Given the description of an element on the screen output the (x, y) to click on. 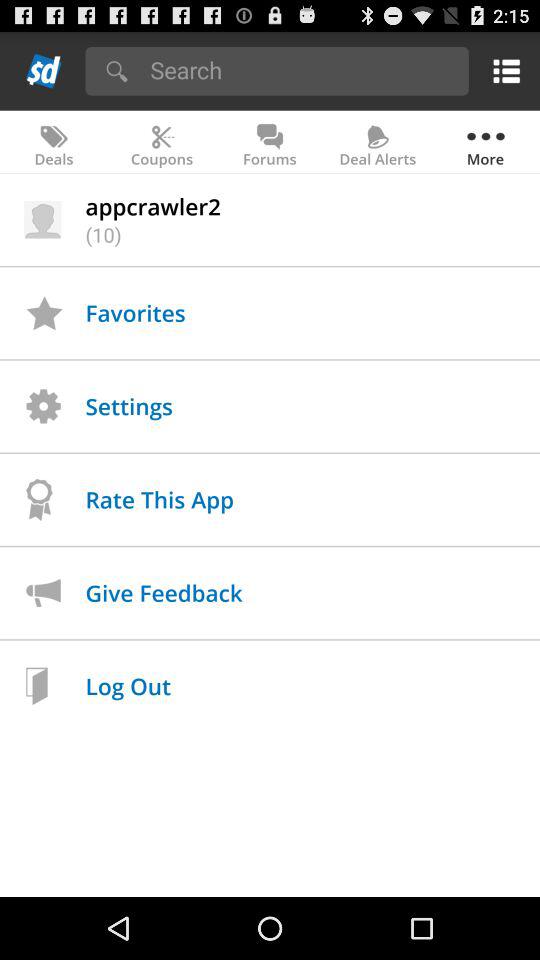
open menu (502, 70)
